Given the description of an element on the screen output the (x, y) to click on. 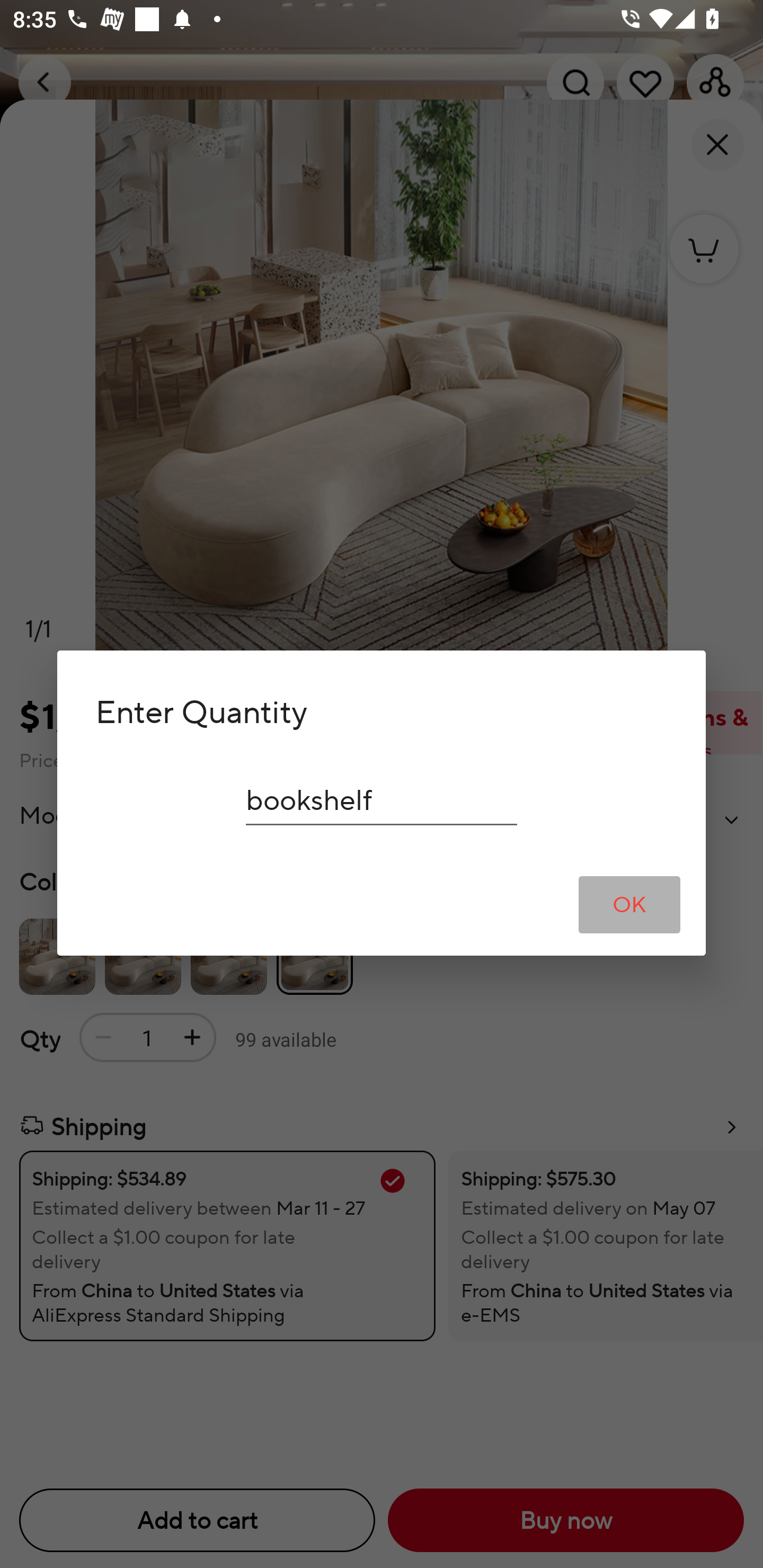
bookshelf (381, 800)
OK (629, 904)
